Given the description of an element on the screen output the (x, y) to click on. 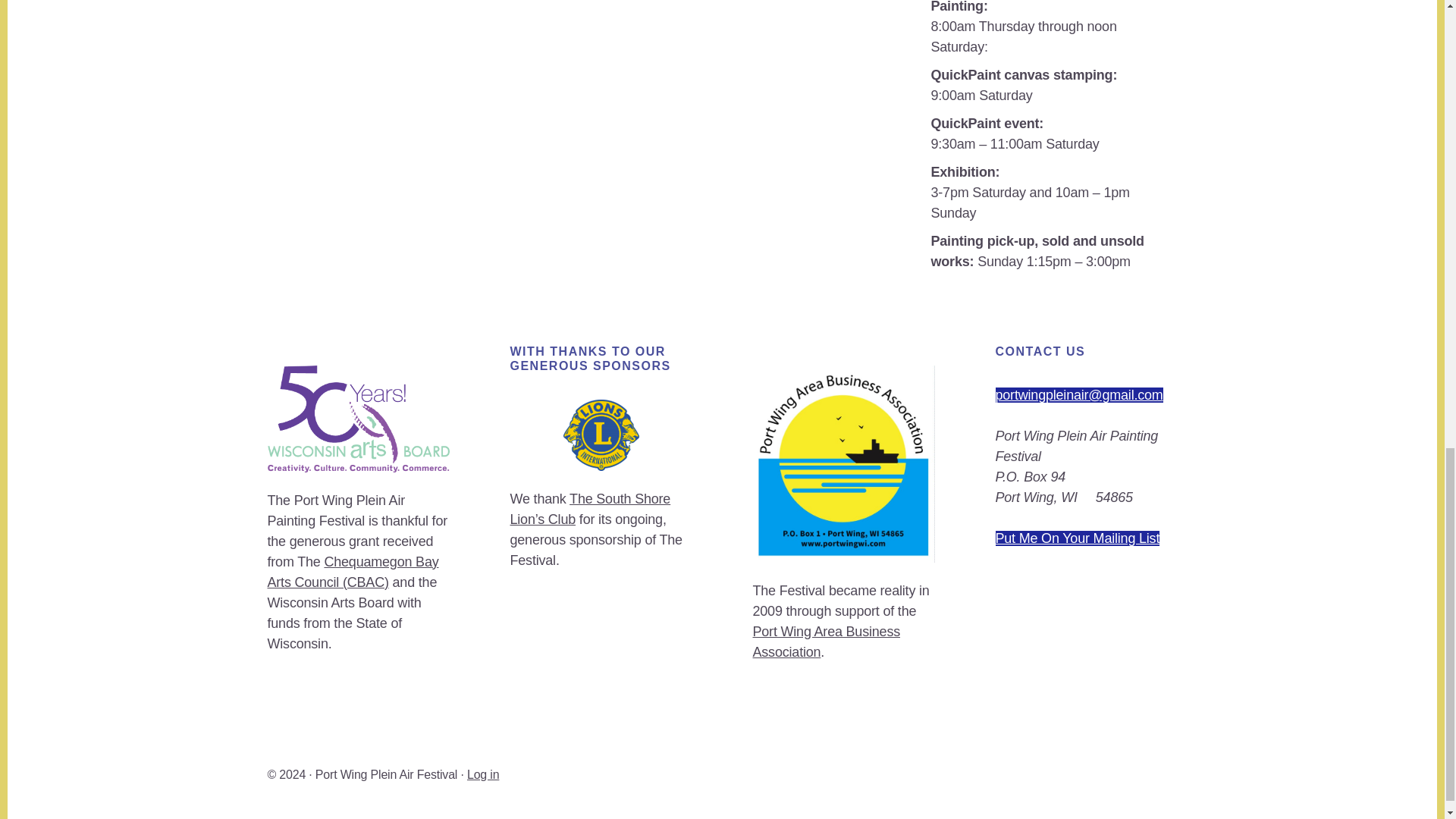
Port Wing Area Business Association (825, 642)
Log in (483, 774)
Put Me On Your Mailing List (1076, 538)
